Given the description of an element on the screen output the (x, y) to click on. 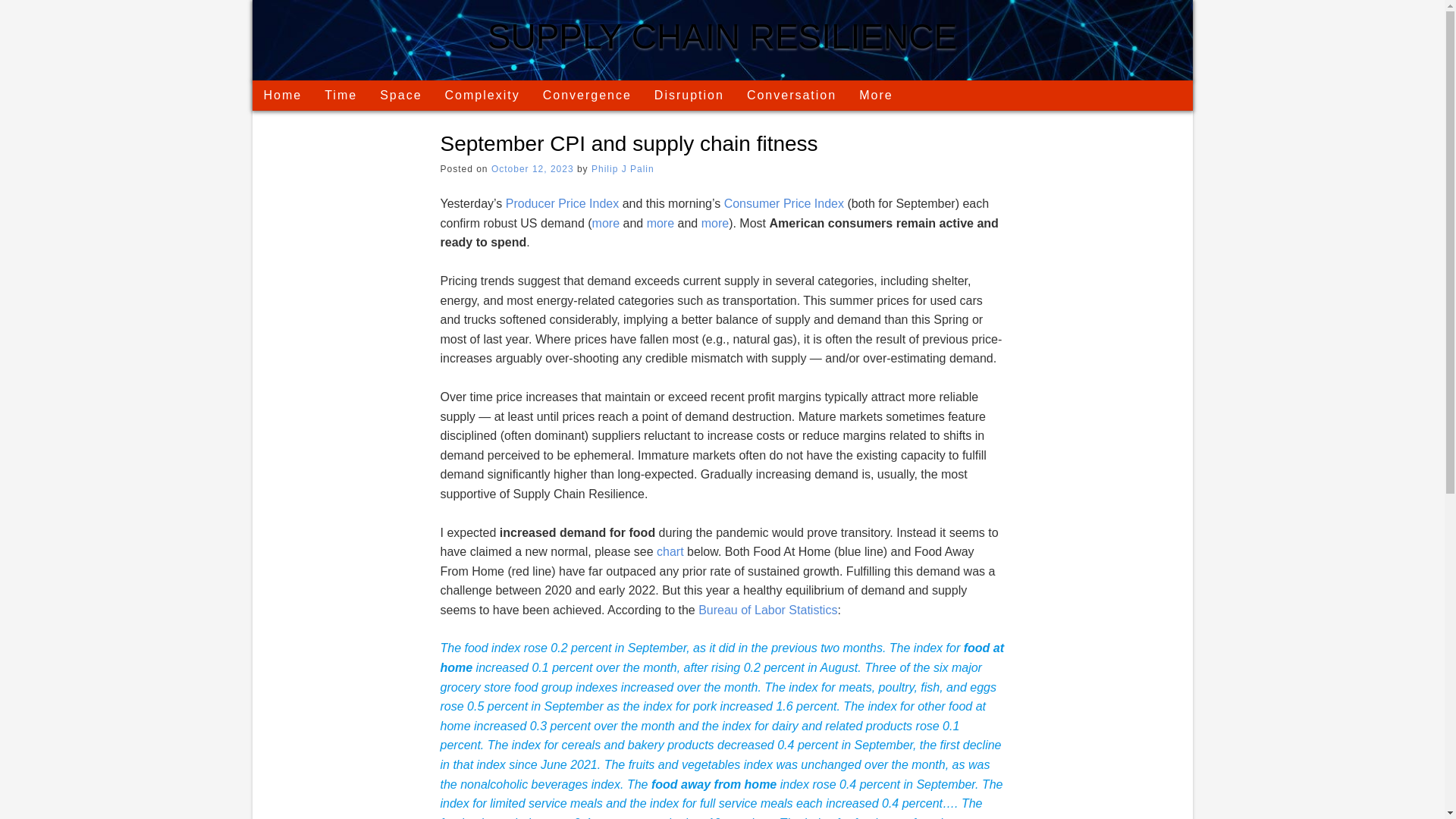
Space (400, 95)
Conversation (791, 95)
Home (282, 95)
More (875, 95)
October 12, 2023 (532, 168)
Convergence (587, 95)
more (660, 223)
Consumer Price Index (783, 203)
SUPPLY CHAIN RESILIENCE (721, 36)
more (606, 223)
Bureau of Labor Statistics (767, 609)
Philip J Palin (622, 168)
more (715, 223)
Producer Price Index (561, 203)
Disruption (689, 95)
